Given the description of an element on the screen output the (x, y) to click on. 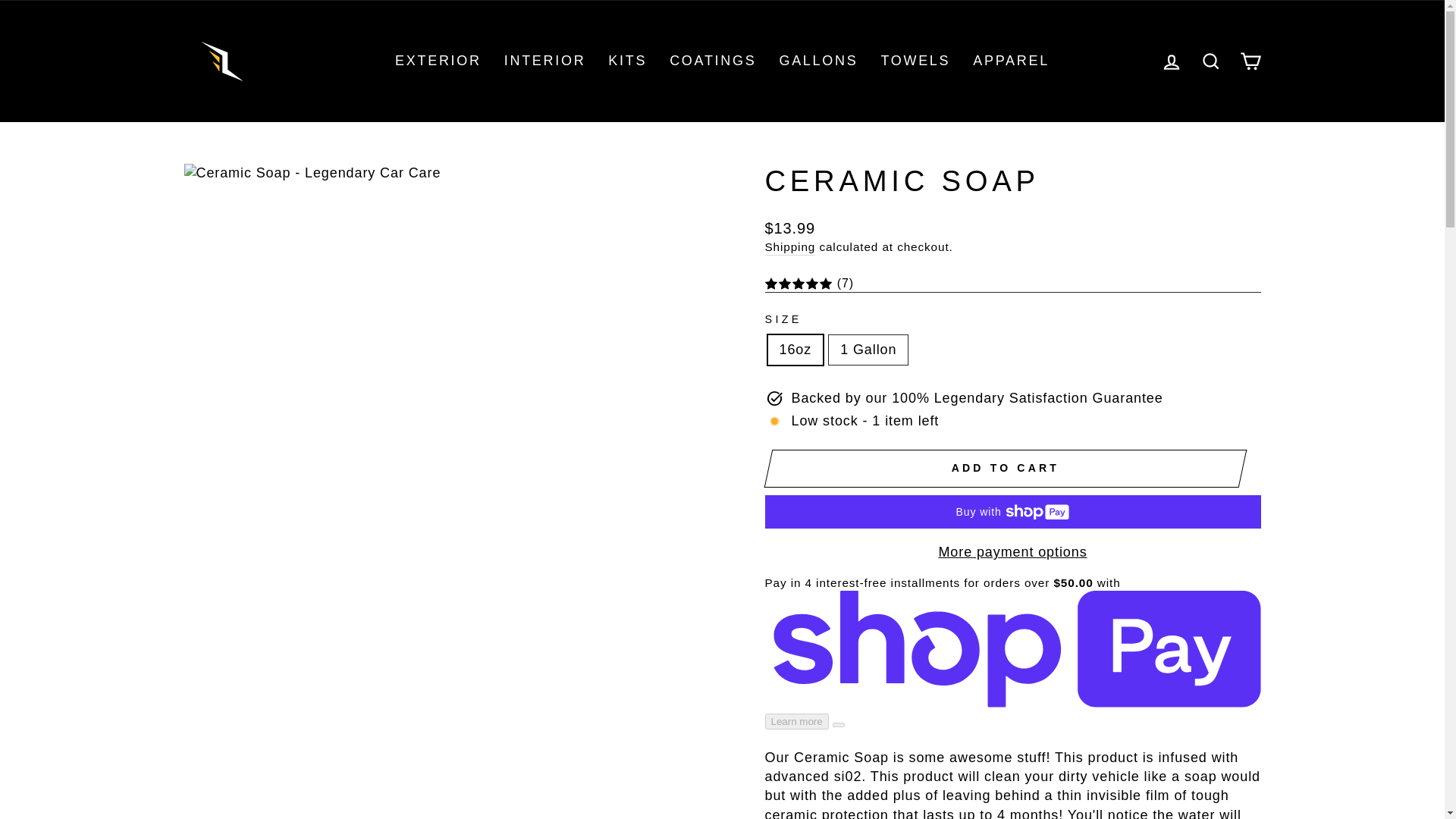
INTERIOR (544, 61)
EXTERIOR (438, 61)
